Given the description of an element on the screen output the (x, y) to click on. 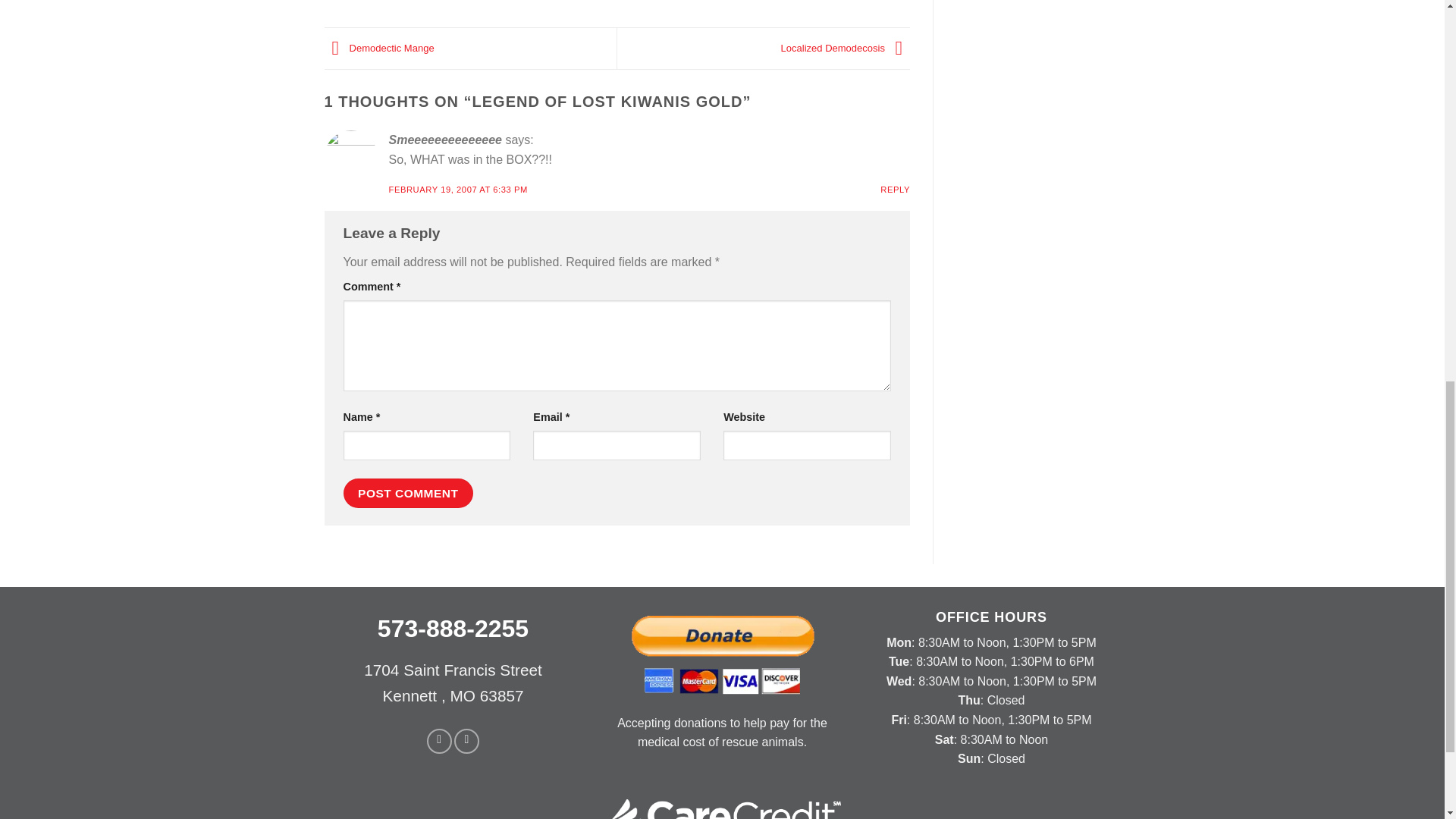
Post Comment (407, 492)
Localized Demodecosis (845, 48)
Follow on Facebook (438, 740)
Post Comment (407, 492)
Follow on YouTube (466, 740)
Demodectic Mange (378, 48)
REPLY (895, 189)
